Given the description of an element on the screen output the (x, y) to click on. 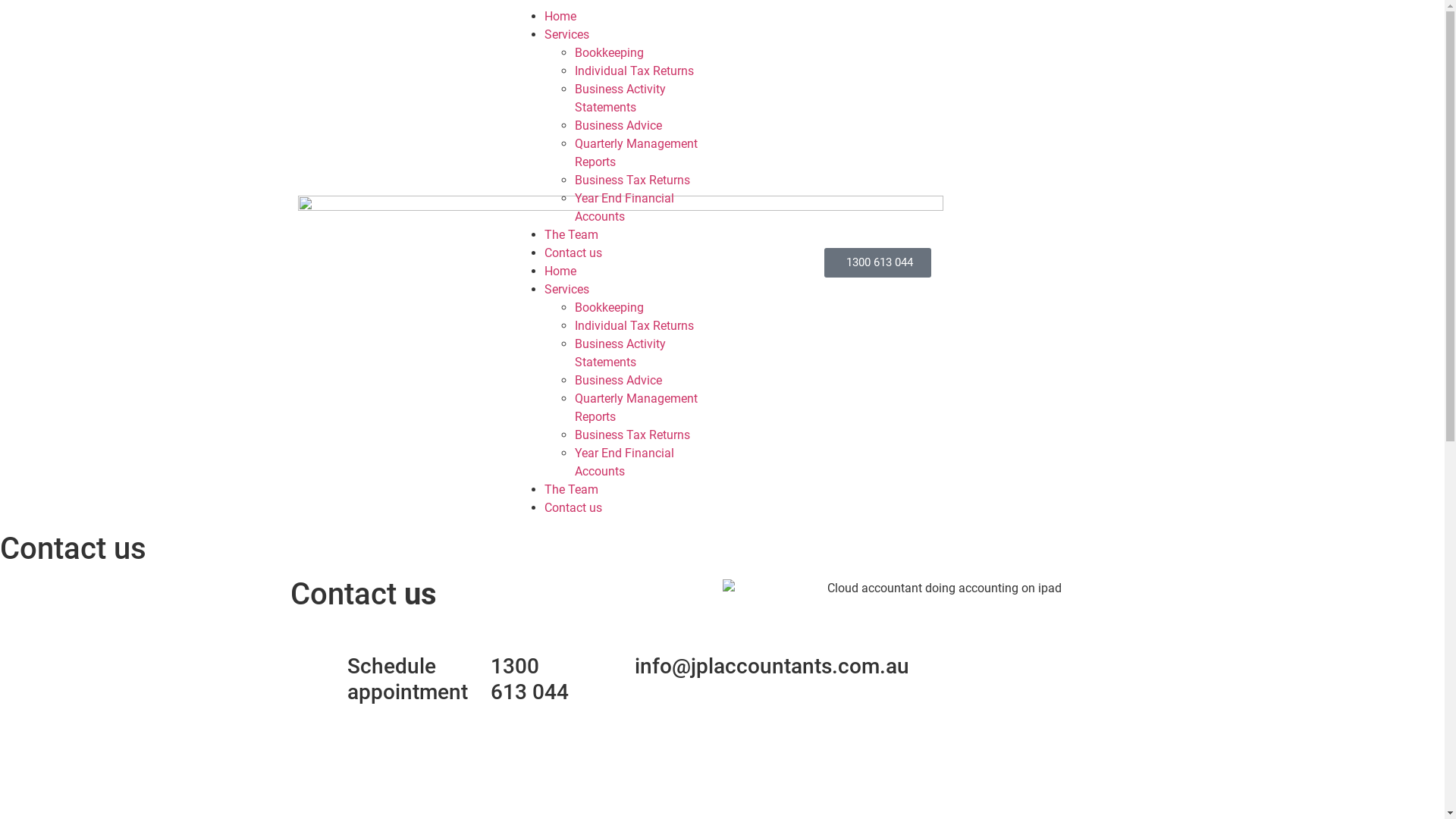
Schedule appointment Element type: text (407, 678)
Contact us Element type: text (573, 507)
Business Activity Statements Element type: text (619, 352)
Bookkeeping Element type: text (608, 52)
1300 613 044 Element type: text (876, 261)
Business Advice Element type: text (618, 380)
Business Tax Returns Element type: text (632, 179)
info@jplaccountants.com.au Element type: text (771, 665)
Home Element type: text (560, 270)
Business Activity Statements Element type: text (619, 97)
Business Advice Element type: text (618, 125)
The Team Element type: text (571, 489)
Individual Tax Returns Element type: text (633, 325)
Individual Tax Returns Element type: text (633, 70)
Services Element type: text (566, 34)
Quarterly Management Reports Element type: text (635, 407)
Quarterly Management Reports Element type: text (635, 152)
Services Element type: text (566, 289)
The Team Element type: text (571, 234)
Year End Financial Accounts Element type: text (624, 461)
Year End Financial Accounts Element type: text (624, 207)
Business Tax Returns Element type: text (632, 434)
Bookkeeping Element type: text (608, 307)
Contact us Element type: text (573, 252)
Home Element type: text (560, 16)
